Given the description of an element on the screen output the (x, y) to click on. 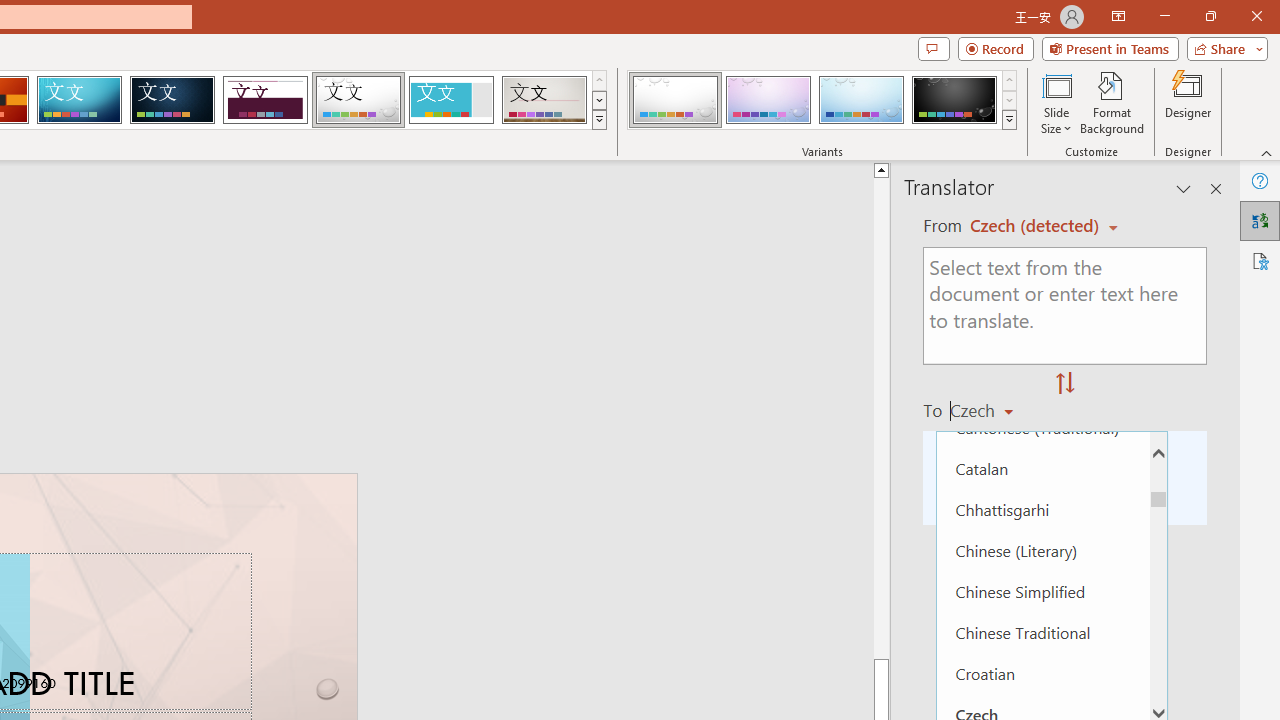
Droplet Variant 2 (768, 100)
Chhattisgarhi (1042, 508)
Variants (1009, 120)
Frame (450, 100)
Gallery (544, 100)
Bosnian (1042, 344)
